Given the description of an element on the screen output the (x, y) to click on. 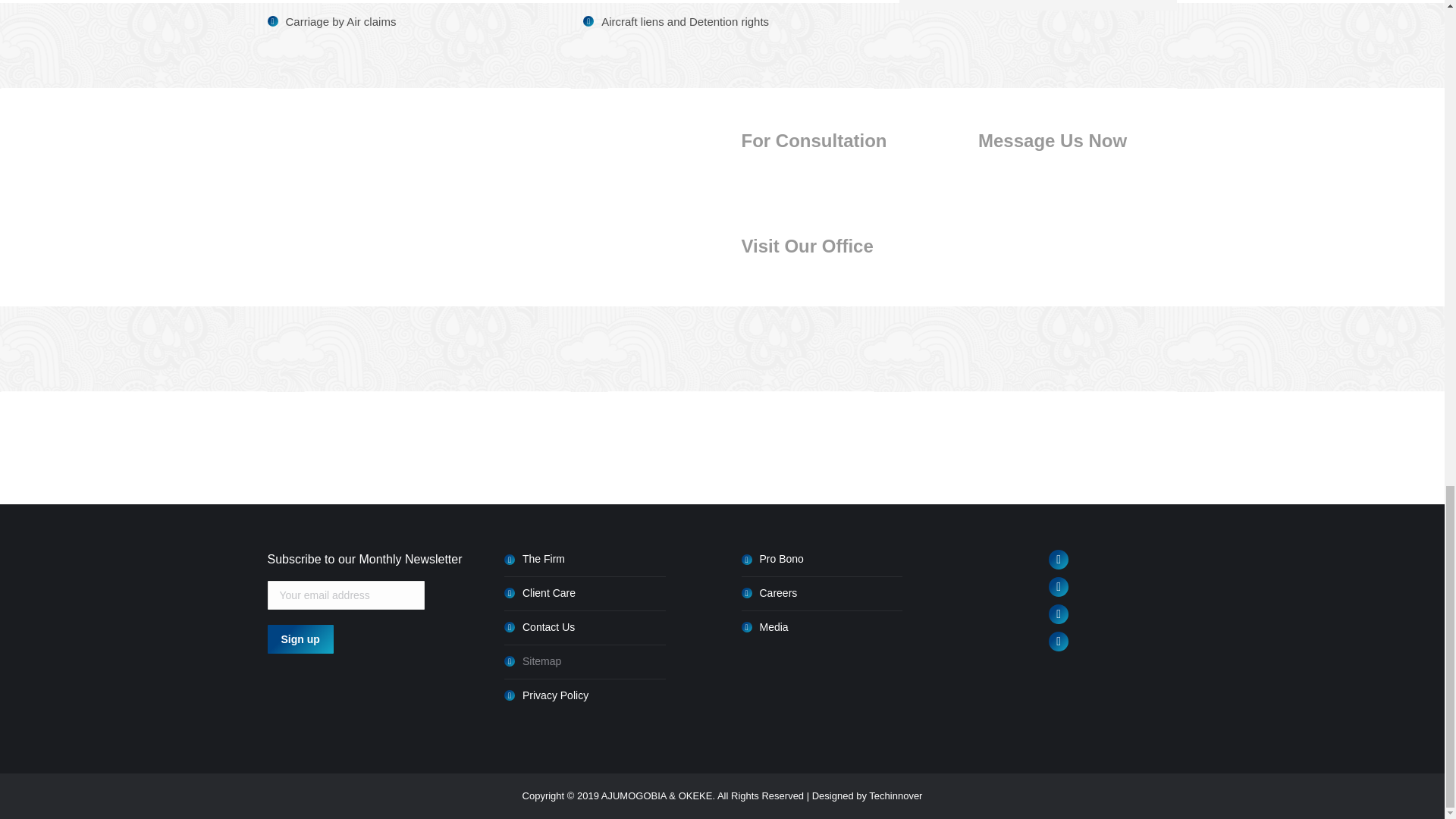
Facebook (1058, 587)
Twitter (1058, 614)
Instagram (1058, 641)
Linkedin (1058, 559)
Sign up (299, 638)
